Given the description of an element on the screen output the (x, y) to click on. 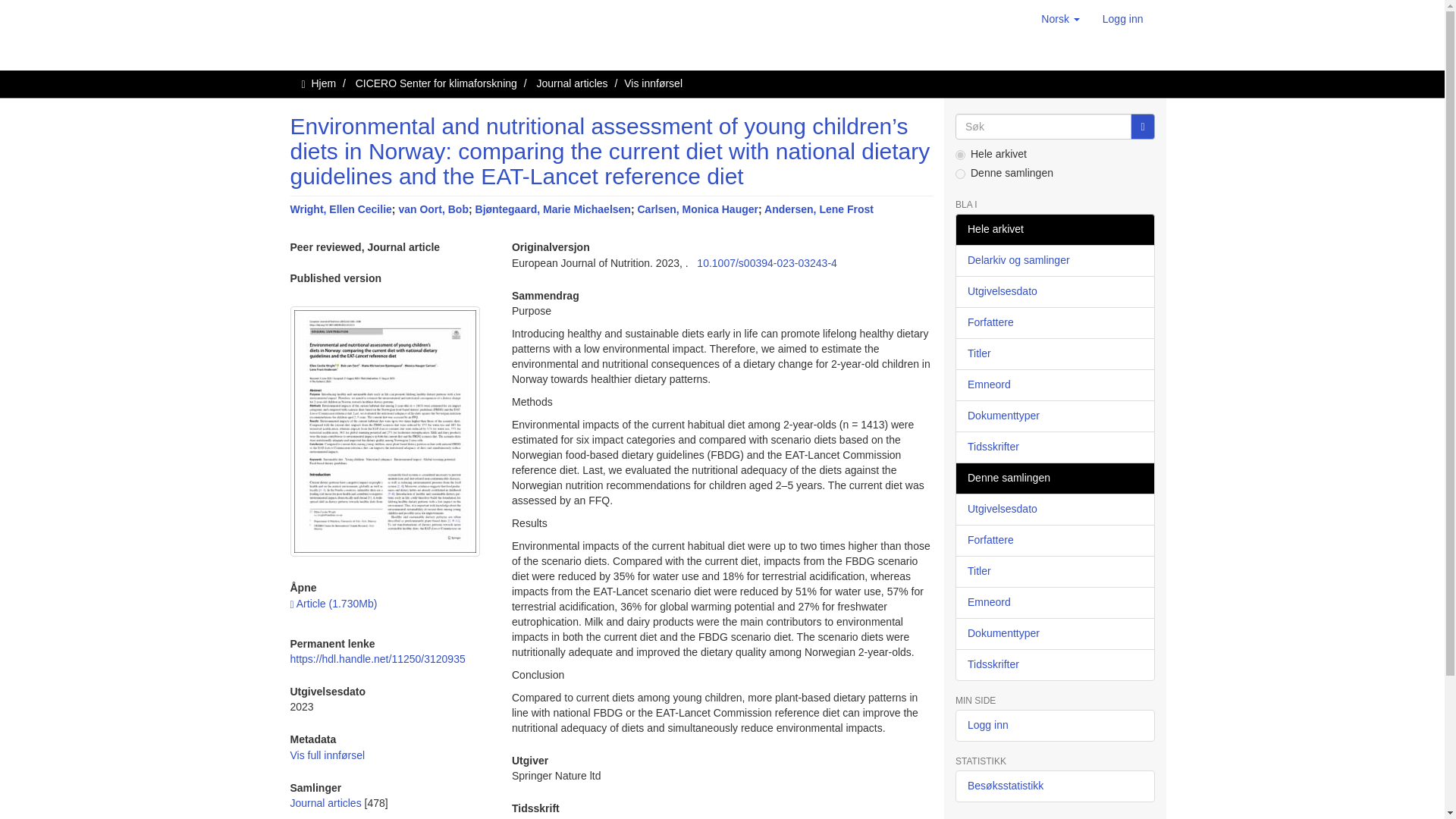
Carlsen, Monica Hauger (697, 209)
Hjem (323, 82)
Delarkiv og samlinger (1054, 260)
Hele arkivet (1054, 229)
Norsk  (1059, 18)
Logg inn (1122, 18)
CICERO Senter for klimaforskning (435, 82)
Journal articles (325, 802)
van Oort, Bob (432, 209)
Wright, Ellen Cecilie (340, 209)
Andersen, Lene Frost (818, 209)
Journal articles (571, 82)
